Given the description of an element on the screen output the (x, y) to click on. 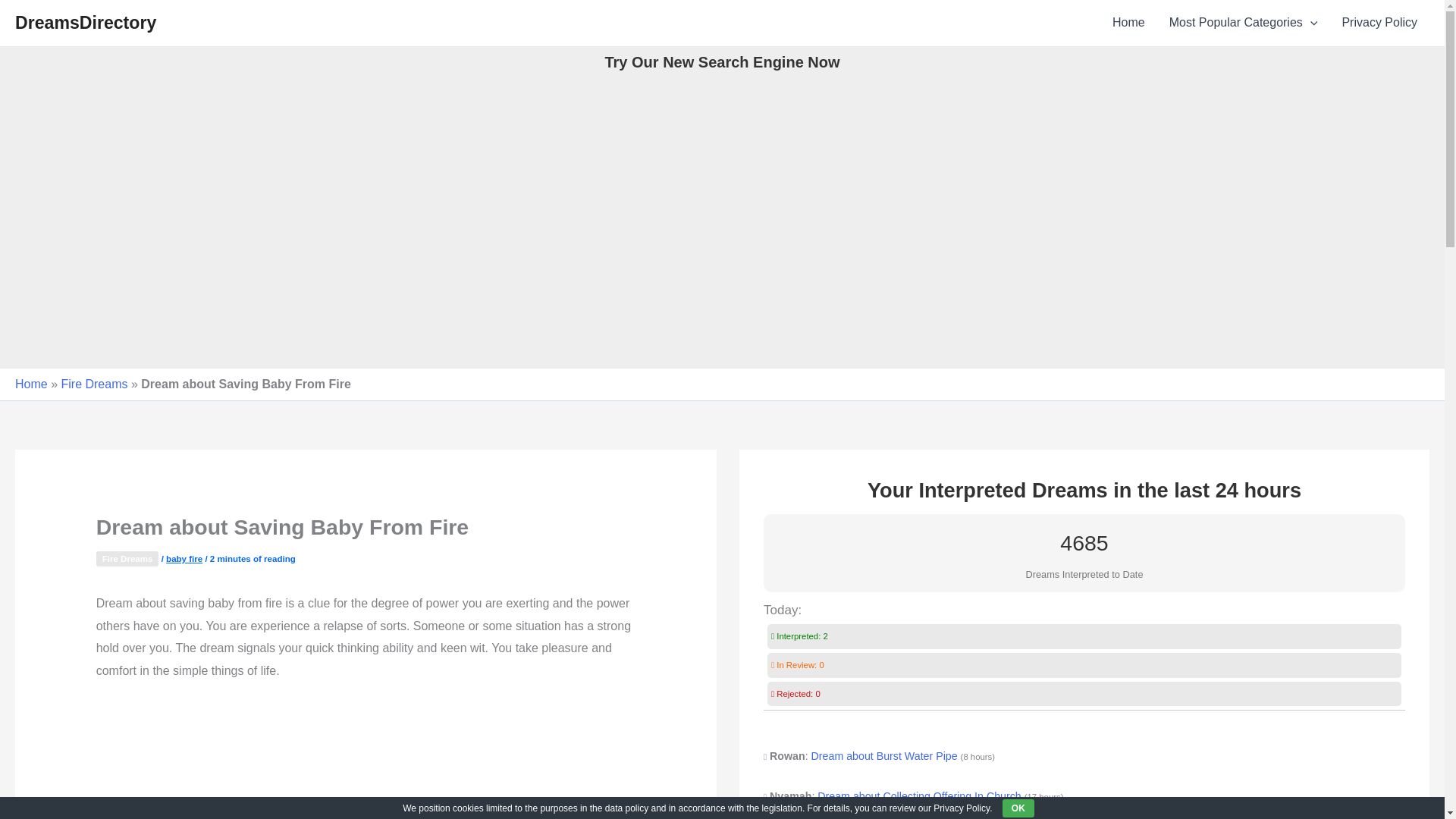
baby fire (183, 558)
Home (31, 383)
Most Popular Categories (1243, 22)
Fire Dreams (94, 383)
Advertisement (365, 760)
Fire Dreams (127, 558)
Privacy Policy (1379, 22)
Home (1128, 22)
DreamsDirectory (84, 22)
